Given the description of an element on the screen output the (x, y) to click on. 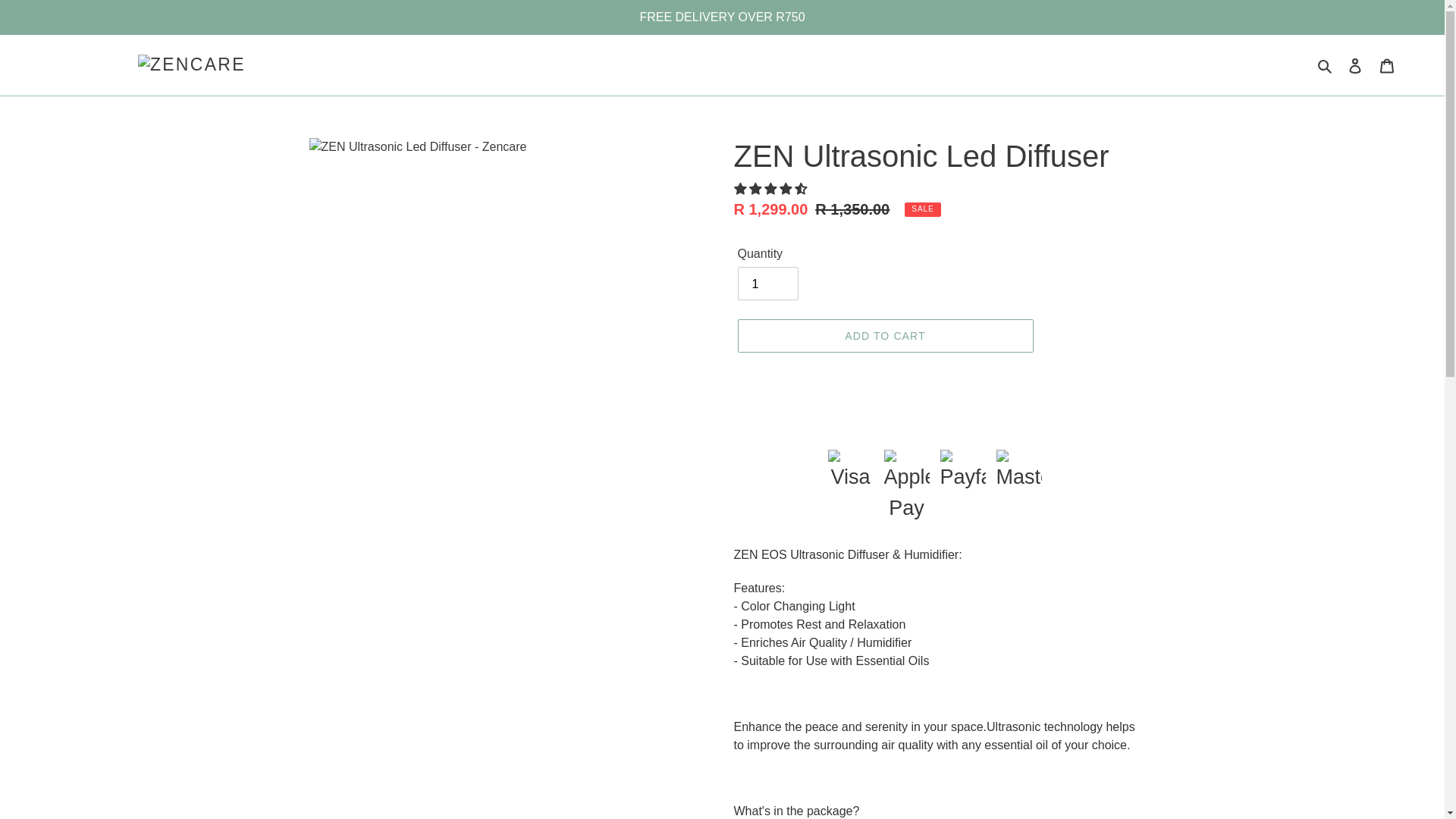
ADD TO CART (884, 335)
Cart (1387, 64)
1 (766, 283)
Search (1326, 65)
Log in (1355, 64)
